Given the description of an element on the screen output the (x, y) to click on. 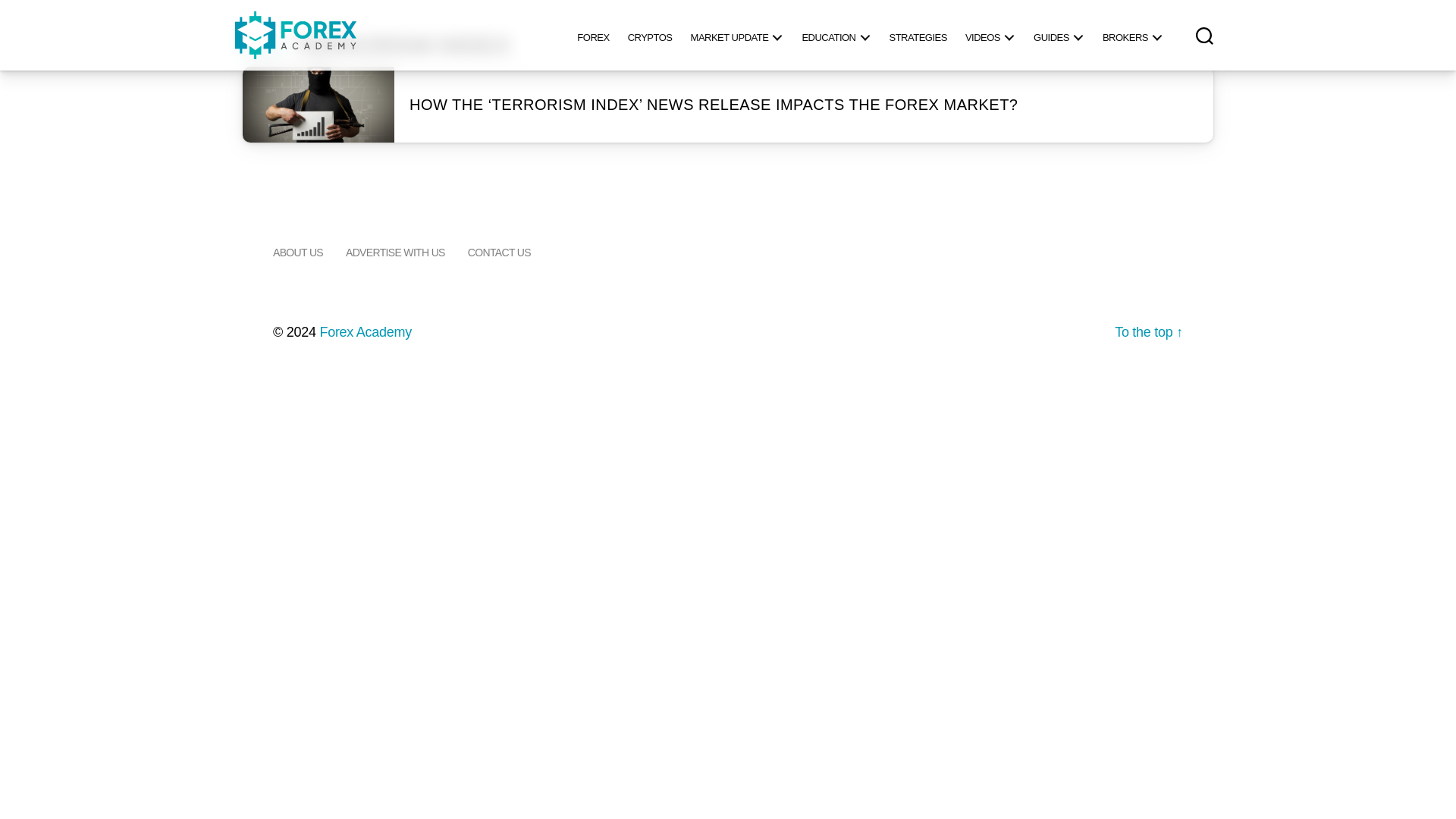
VIDEOS (990, 35)
BROKERS (1132, 35)
MARKET UPDATE (737, 35)
STRATEGIES (917, 35)
GUIDES (1059, 35)
CRYPTOS (649, 35)
EDUCATION (835, 35)
